Given the description of an element on the screen output the (x, y) to click on. 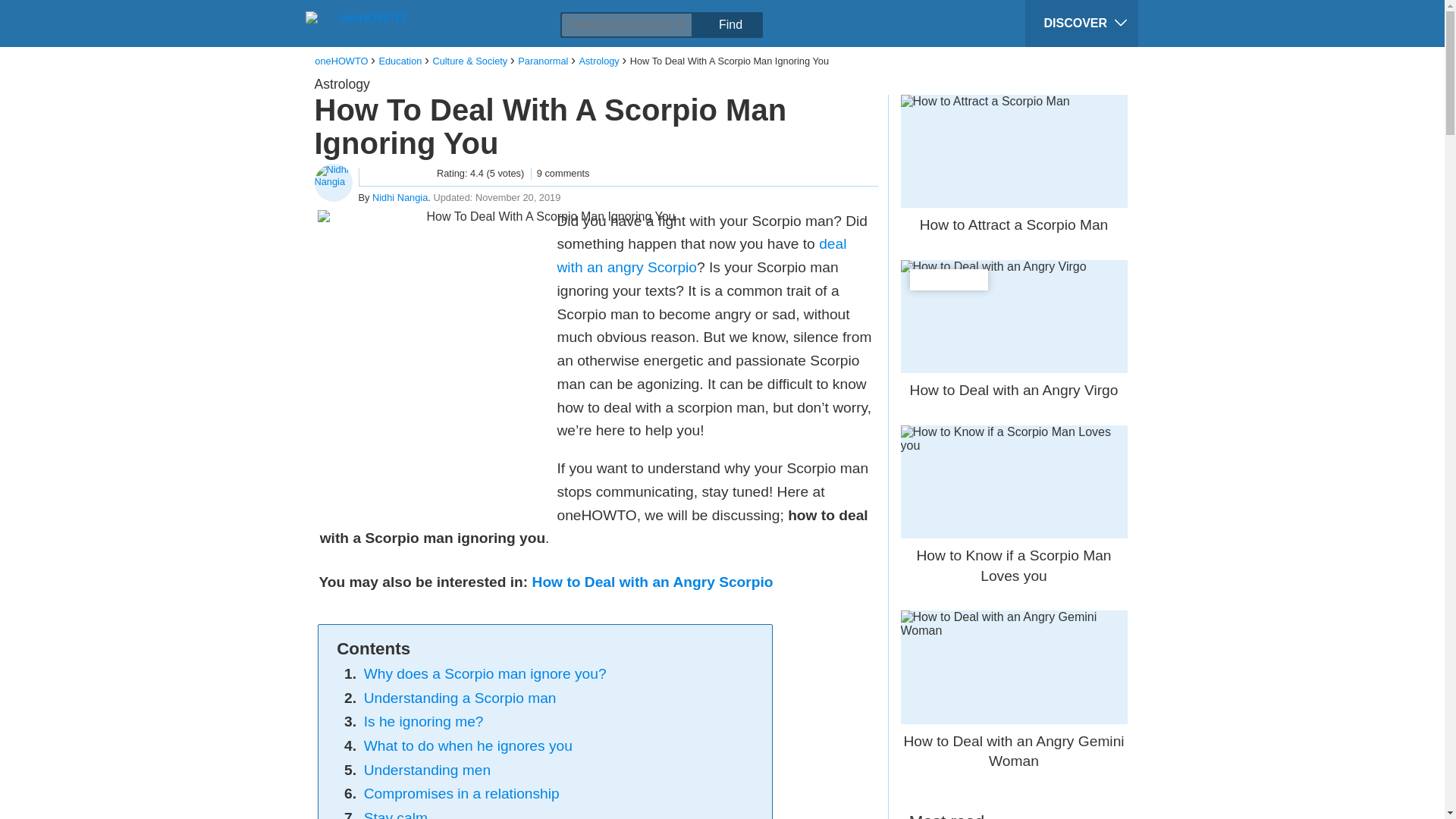
facebook (370, 12)
Nidhi Nangia (400, 197)
9 comments (560, 173)
twitter (399, 12)
Understanding men (427, 770)
Paranormal (542, 60)
imprimir (485, 12)
Astrology (598, 60)
Compromises in a relationship (461, 793)
whatsapp (456, 12)
Find (729, 24)
What to do when he ignores you (468, 745)
Understanding a Scorpio man (460, 697)
How to Deal with an Angry Scorpio (652, 581)
Education (400, 60)
